Given the description of an element on the screen output the (x, y) to click on. 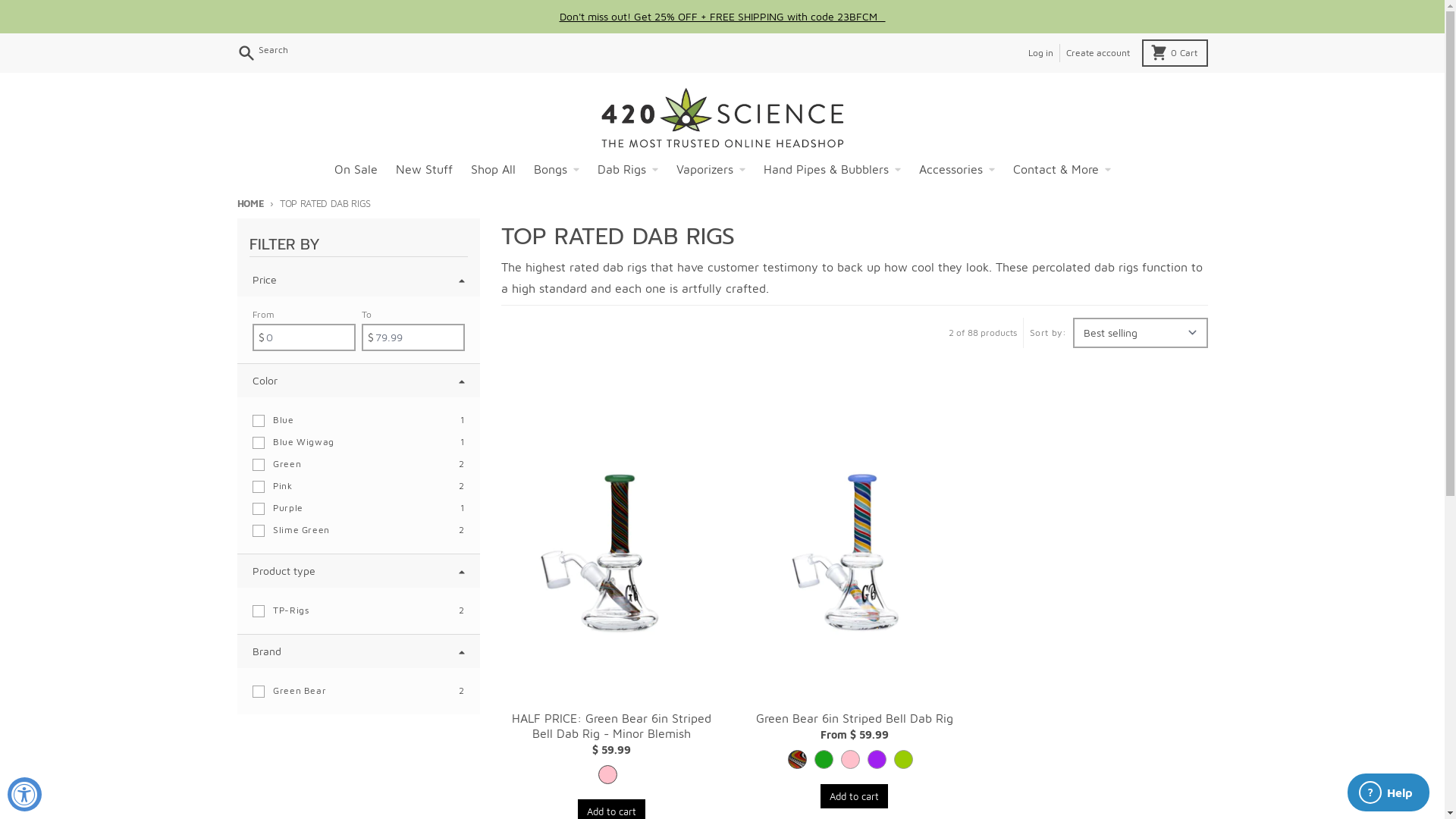
Create account Element type: text (1096, 52)
0
Cart Element type: text (1175, 52)
On Sale Element type: text (354, 168)
New Stuff Element type: text (423, 168)
Add to cart Element type: text (854, 796)
Search Element type: text (263, 52)
Shop All Element type: text (492, 168)
Log in Element type: text (1040, 52)
?
Help Element type: text (1388, 792)
HOME Element type: text (249, 203)
